Given the description of an element on the screen output the (x, y) to click on. 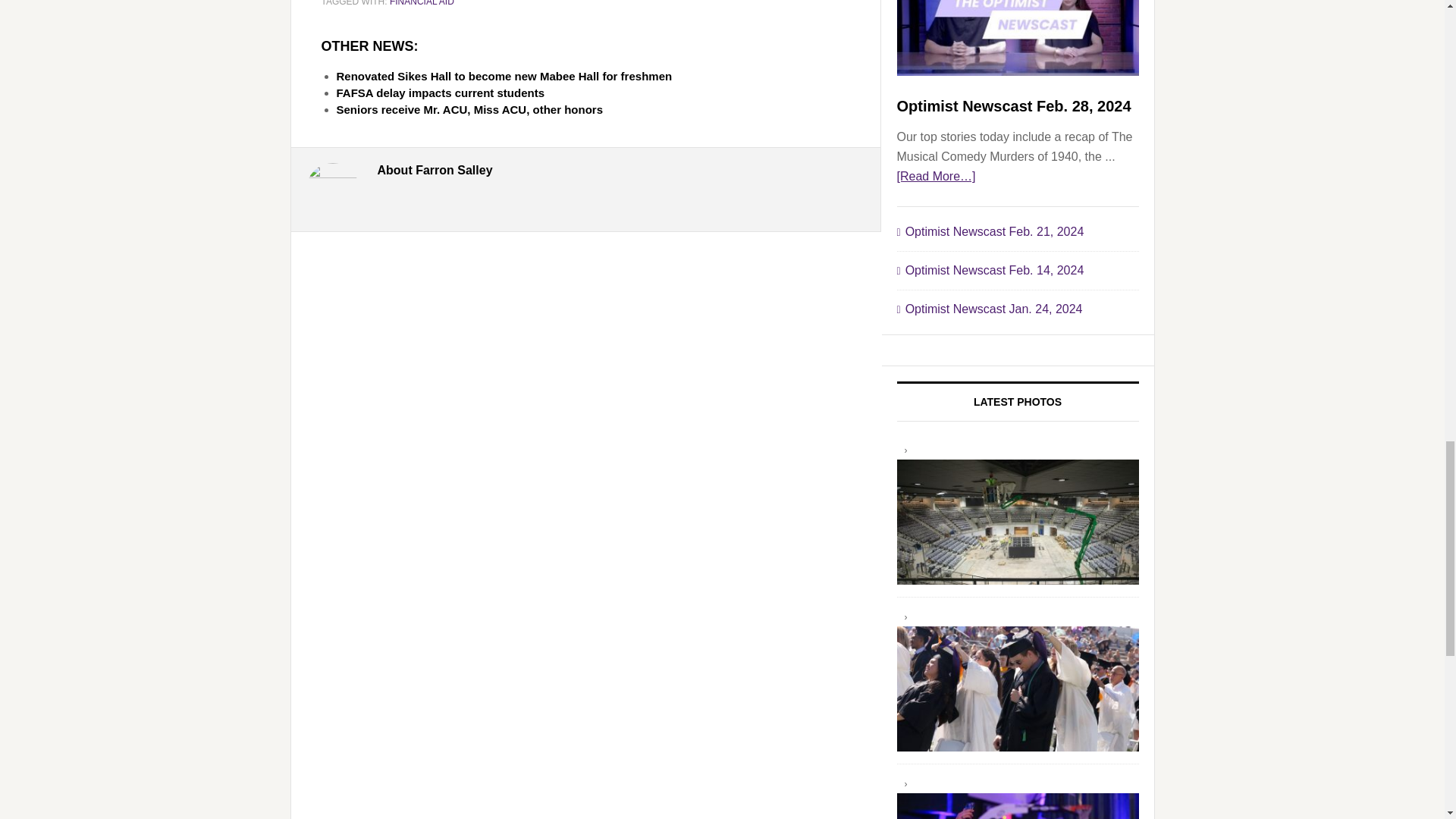
Renovated Sikes Hall to become new Mabee Hall for freshmen (593, 76)
Seniors receive Mr. ACU, Miss ACU, other honors (593, 110)
FINANCIAL AID (422, 3)
FAFSA delay impacts current students (593, 92)
